Given the description of an element on the screen output the (x, y) to click on. 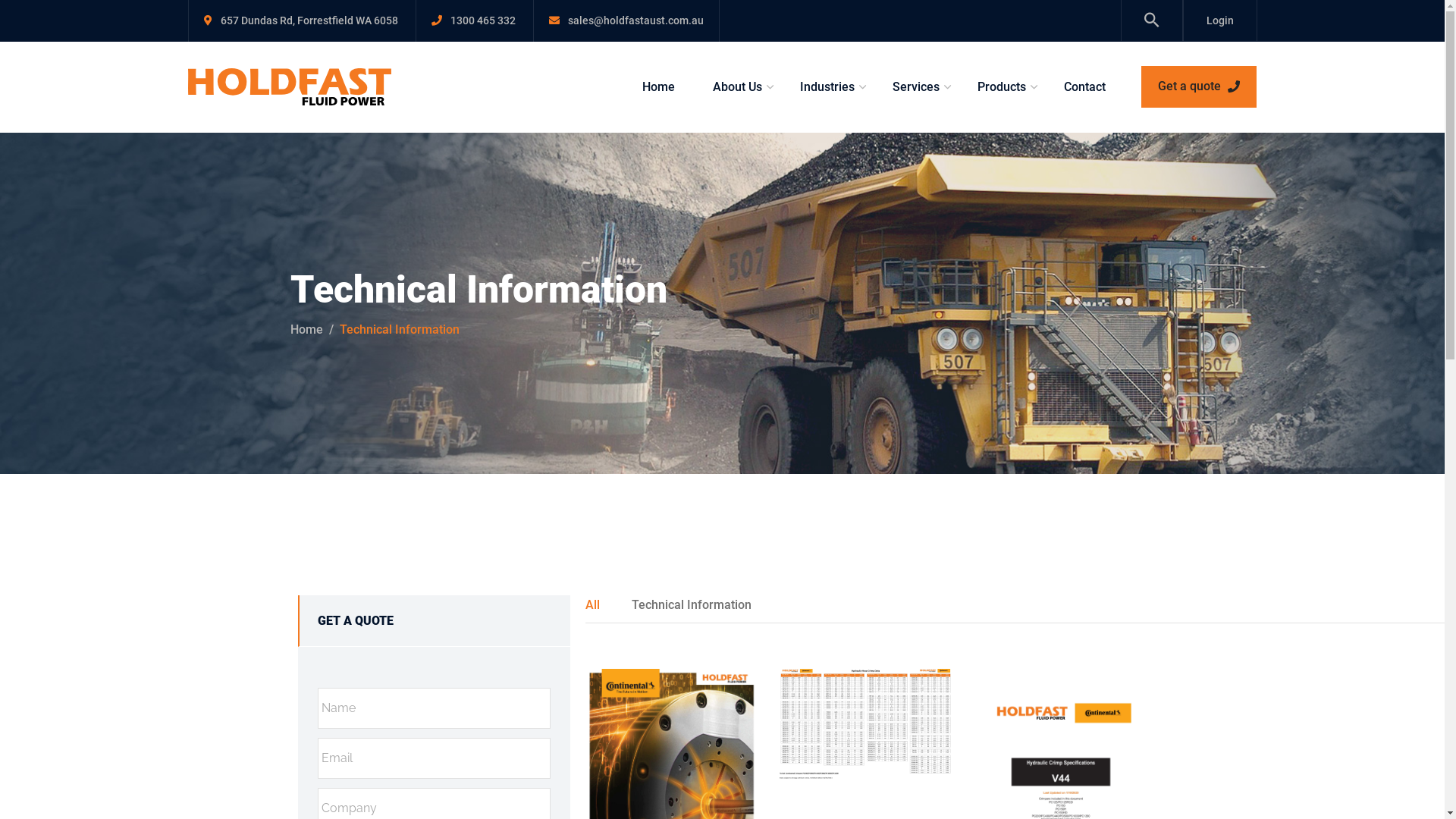
Home Element type: text (305, 329)
Services Element type: text (916, 86)
Home Element type: text (658, 86)
About Us Element type: text (736, 86)
Technical Information Element type: text (691, 605)
1300 465 332 Element type: text (482, 20)
Products Element type: text (1001, 86)
Login Element type: text (1219, 20)
All Element type: text (592, 605)
Contact Element type: text (1075, 86)
Industries Element type: text (827, 86)
sales@holdfastaust.com.au Element type: text (634, 20)
657 Dundas Rd, Forrestfield WA 6058 Element type: text (308, 20)
Get a quote Element type: text (1197, 86)
